Given the description of an element on the screen output the (x, y) to click on. 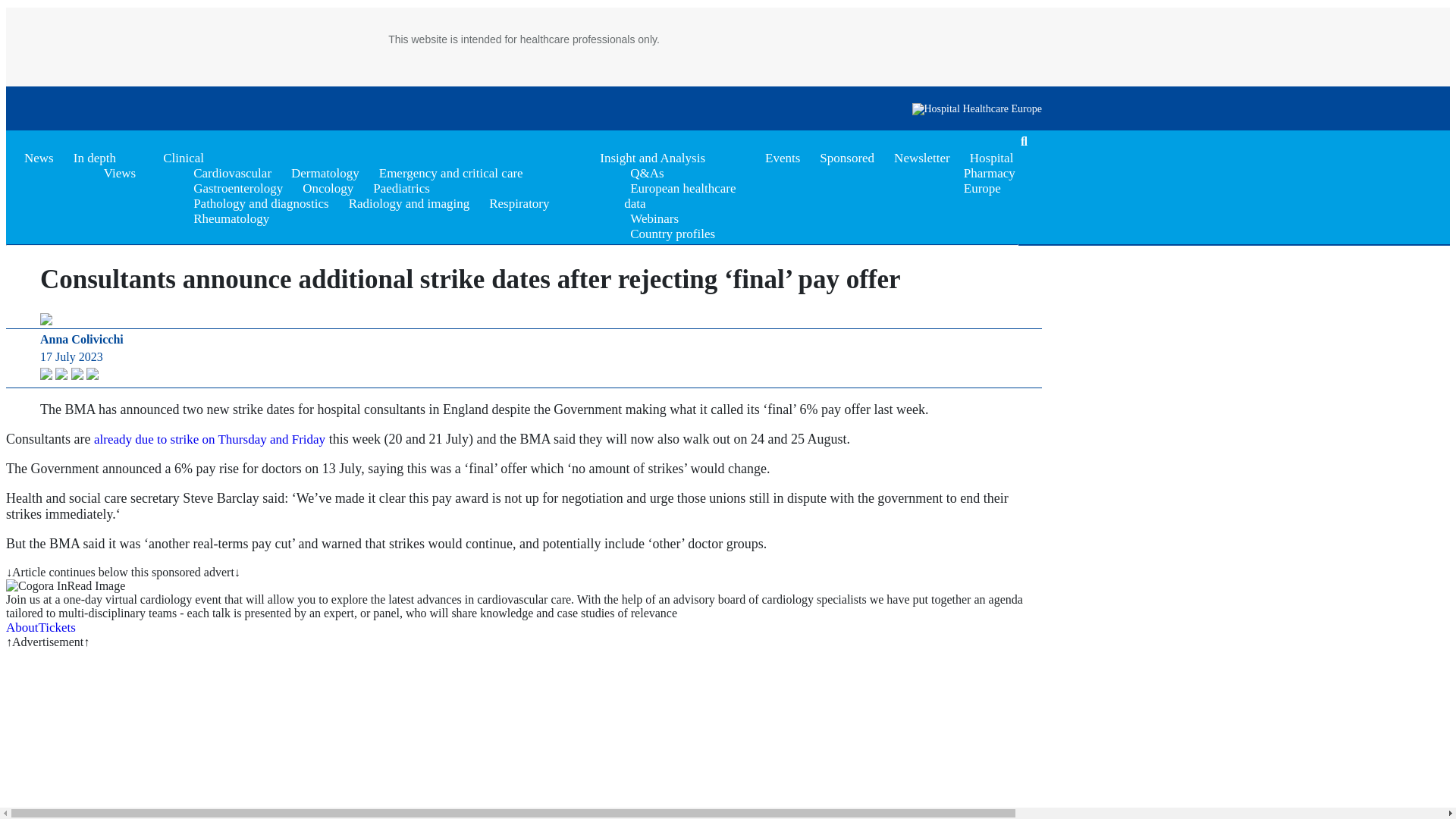
already due to strike on Thursday and Friday (209, 439)
Events (782, 157)
About (22, 626)
Sponsored (846, 157)
Pathology and diagnostics (260, 203)
Cardiovascular (232, 172)
Hospital Pharmacy Europe (988, 173)
Emergency and critical care (450, 172)
Gastroenterology (237, 188)
Clinical (183, 157)
Views (119, 172)
Respiratory (518, 203)
European healthcare data (679, 195)
About (22, 626)
Insight and Analysis (652, 157)
